Given the description of an element on the screen output the (x, y) to click on. 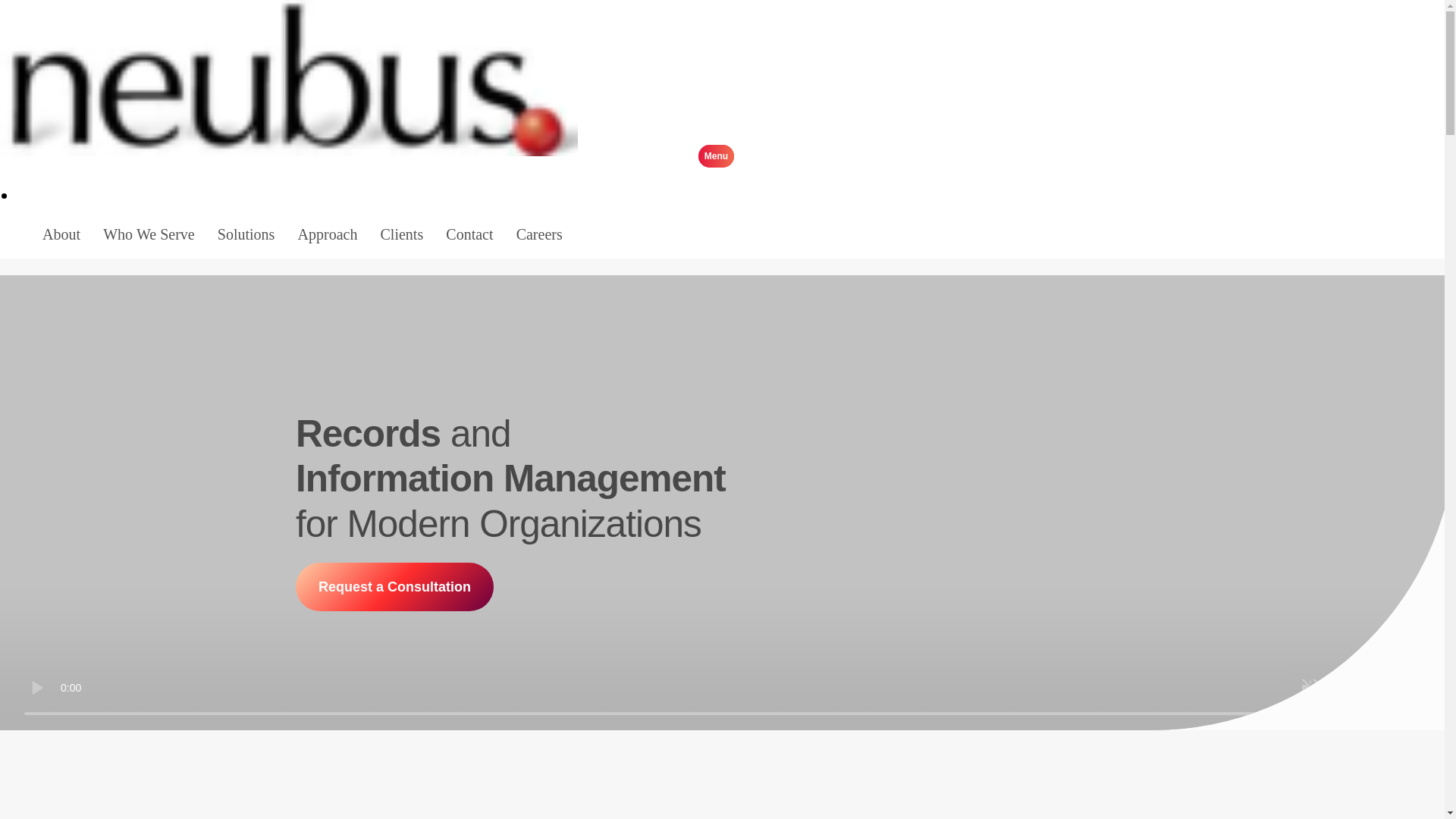
Menu (715, 155)
About (61, 234)
Clients (401, 234)
Careers (539, 234)
Solutions (245, 234)
Approach (328, 234)
Request a Consultation (394, 586)
Who We Serve (149, 234)
Menu (657, 153)
Contact (469, 234)
